Given the description of an element on the screen output the (x, y) to click on. 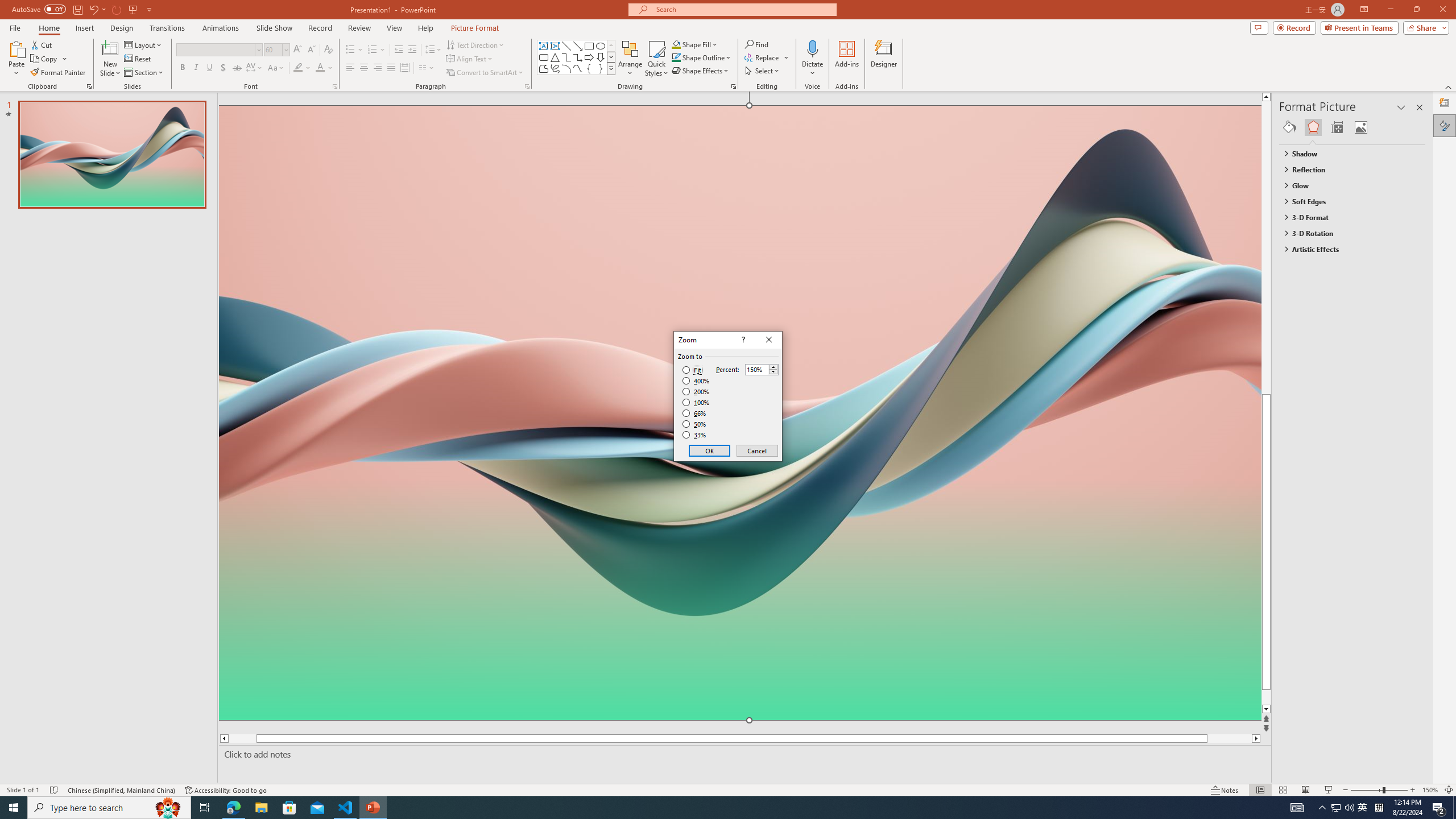
Class: NetUIGalleryContainer (1352, 126)
Class: NetUIScrollBar (1420, 460)
Percent (756, 369)
